Given the description of an element on the screen output the (x, y) to click on. 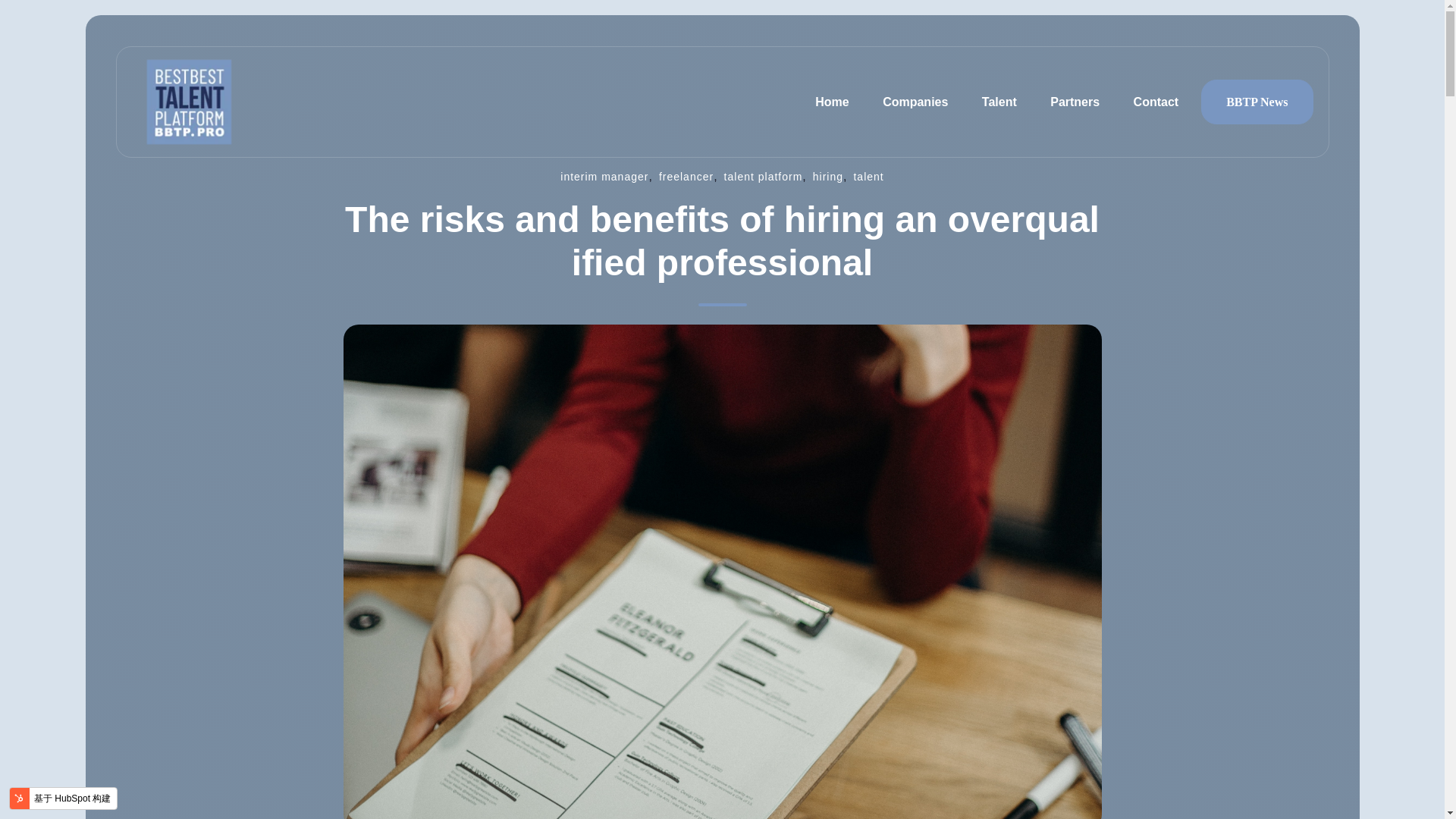
talent platform (763, 176)
Companies (914, 101)
interim manager (603, 176)
talent (868, 176)
freelancer (686, 176)
BBTP News (1257, 102)
hiring (827, 176)
Contact (1156, 101)
Talent (998, 101)
